Given the description of an element on the screen output the (x, y) to click on. 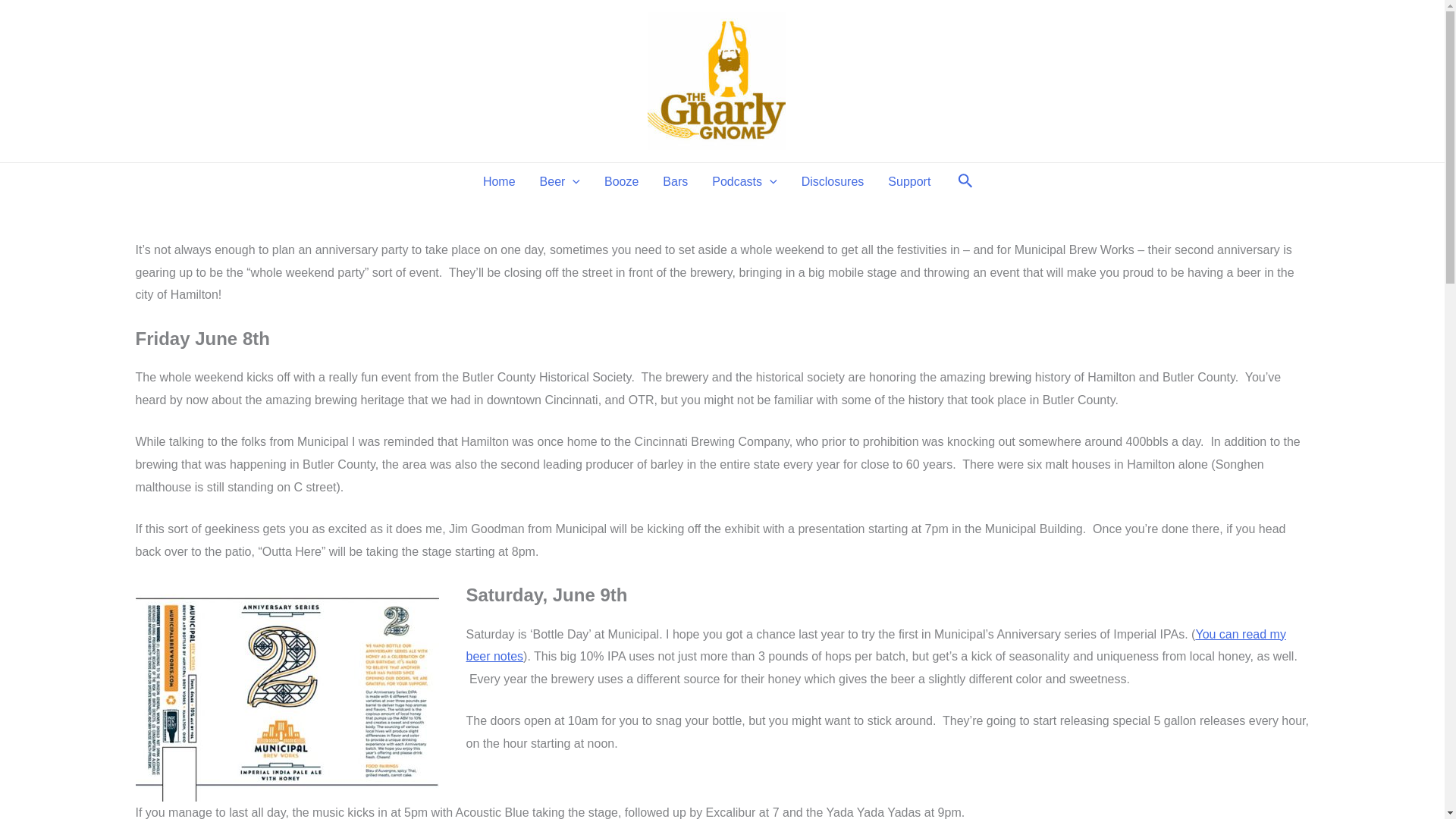
Beer (559, 181)
Podcasts (744, 181)
Home (498, 181)
Booze (621, 181)
Support (909, 181)
Disclosures (832, 181)
Bars (675, 181)
You can read my beer notes (875, 645)
